Given the description of an element on the screen output the (x, y) to click on. 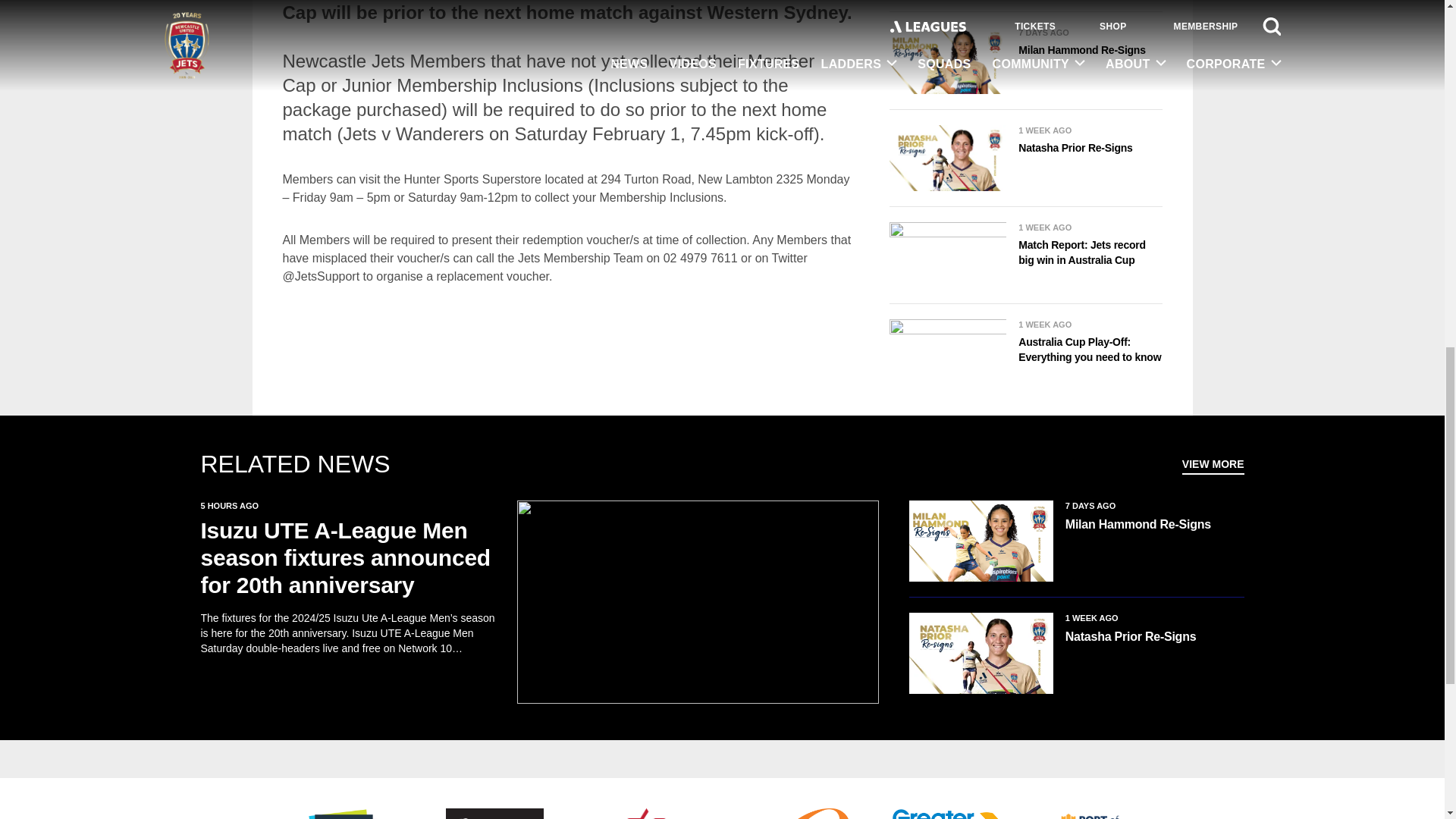
Port of Newcastle (1101, 813)
Inspirations Paint (342, 813)
Legend (645, 813)
AMP Control (797, 813)
Greater Bank (949, 813)
University of Newcastle (493, 813)
